Given the description of an element on the screen output the (x, y) to click on. 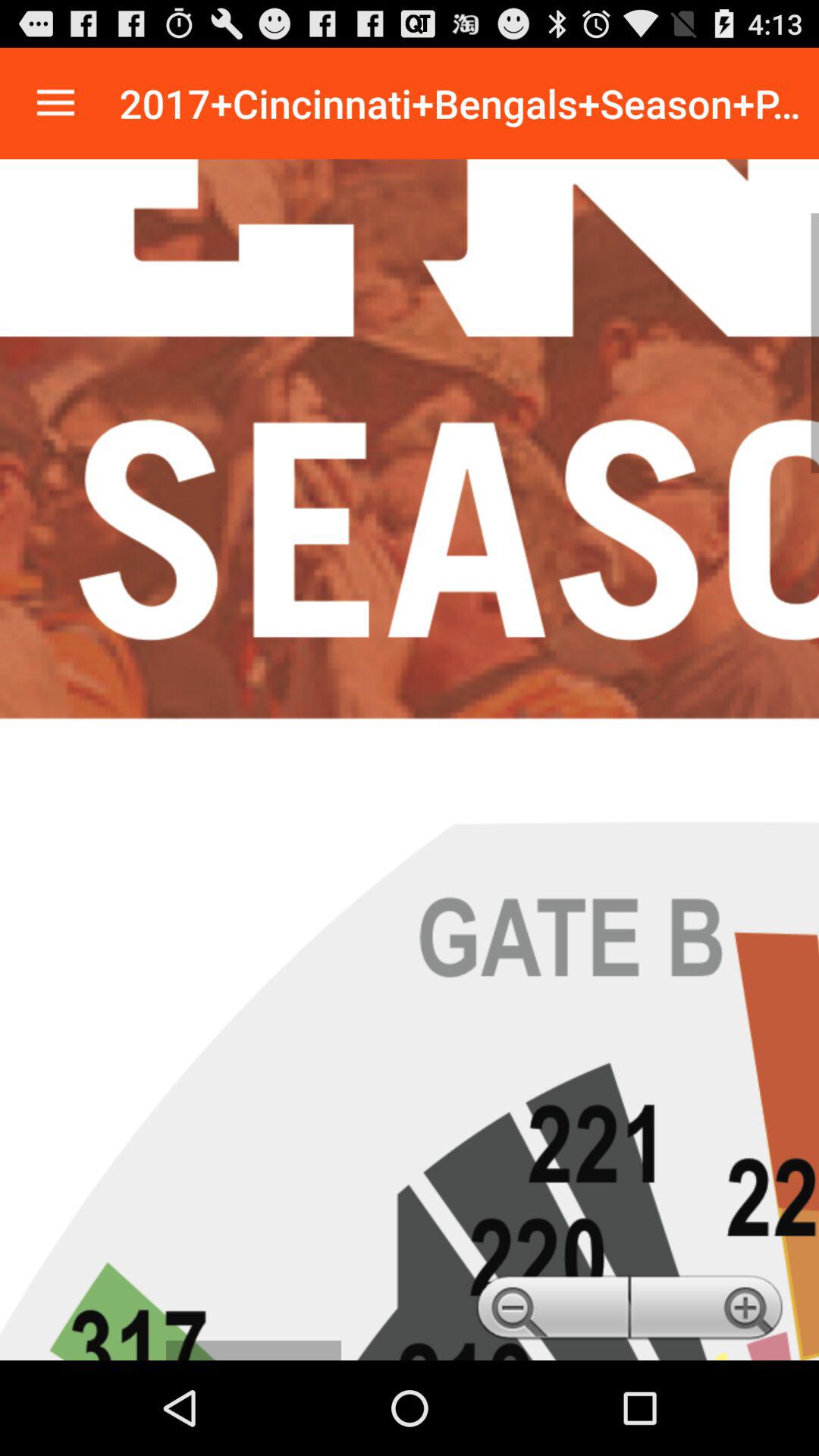
open menu (55, 103)
